Given the description of an element on the screen output the (x, y) to click on. 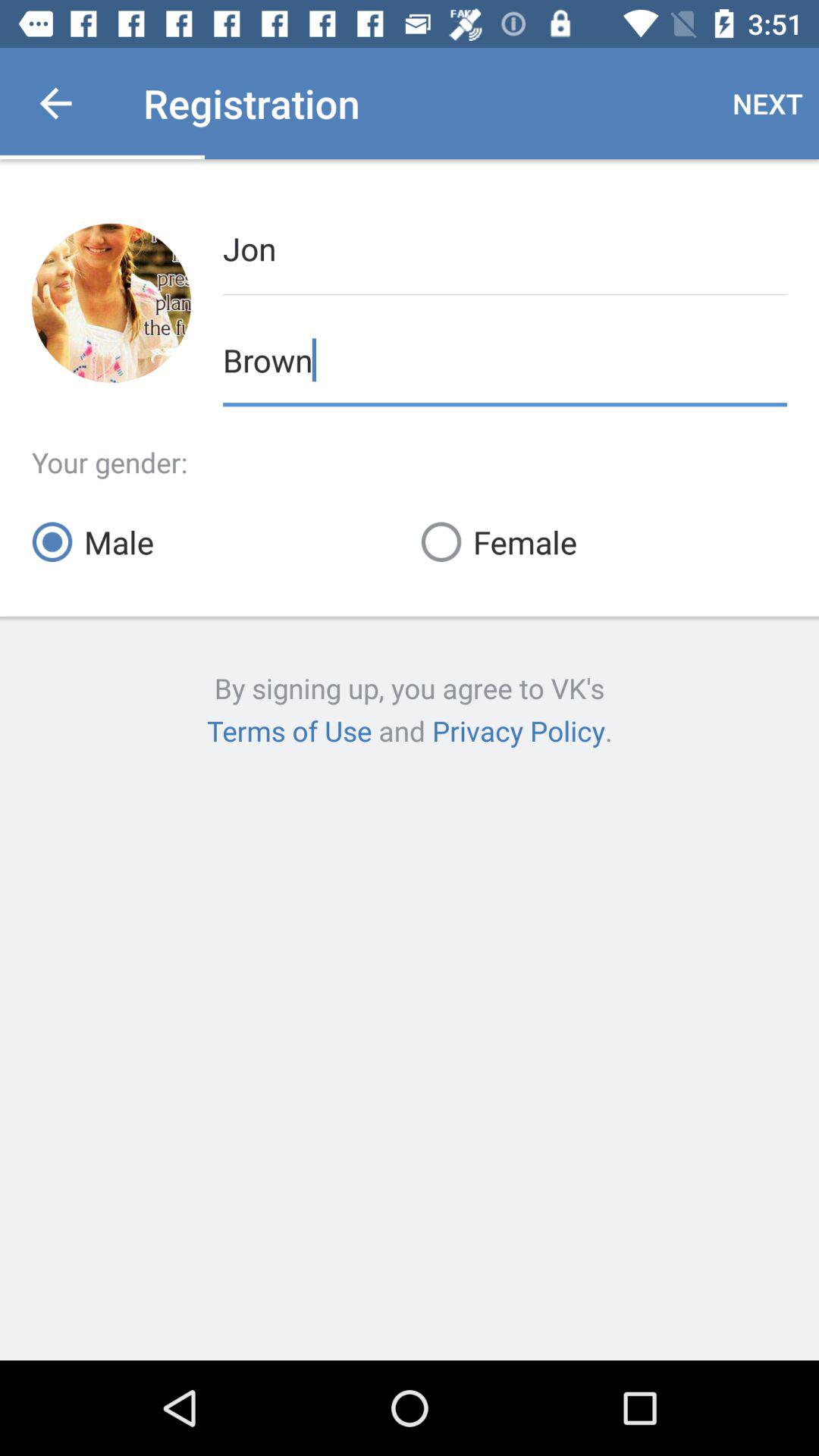
turn on the female (603, 541)
